Given the description of an element on the screen output the (x, y) to click on. 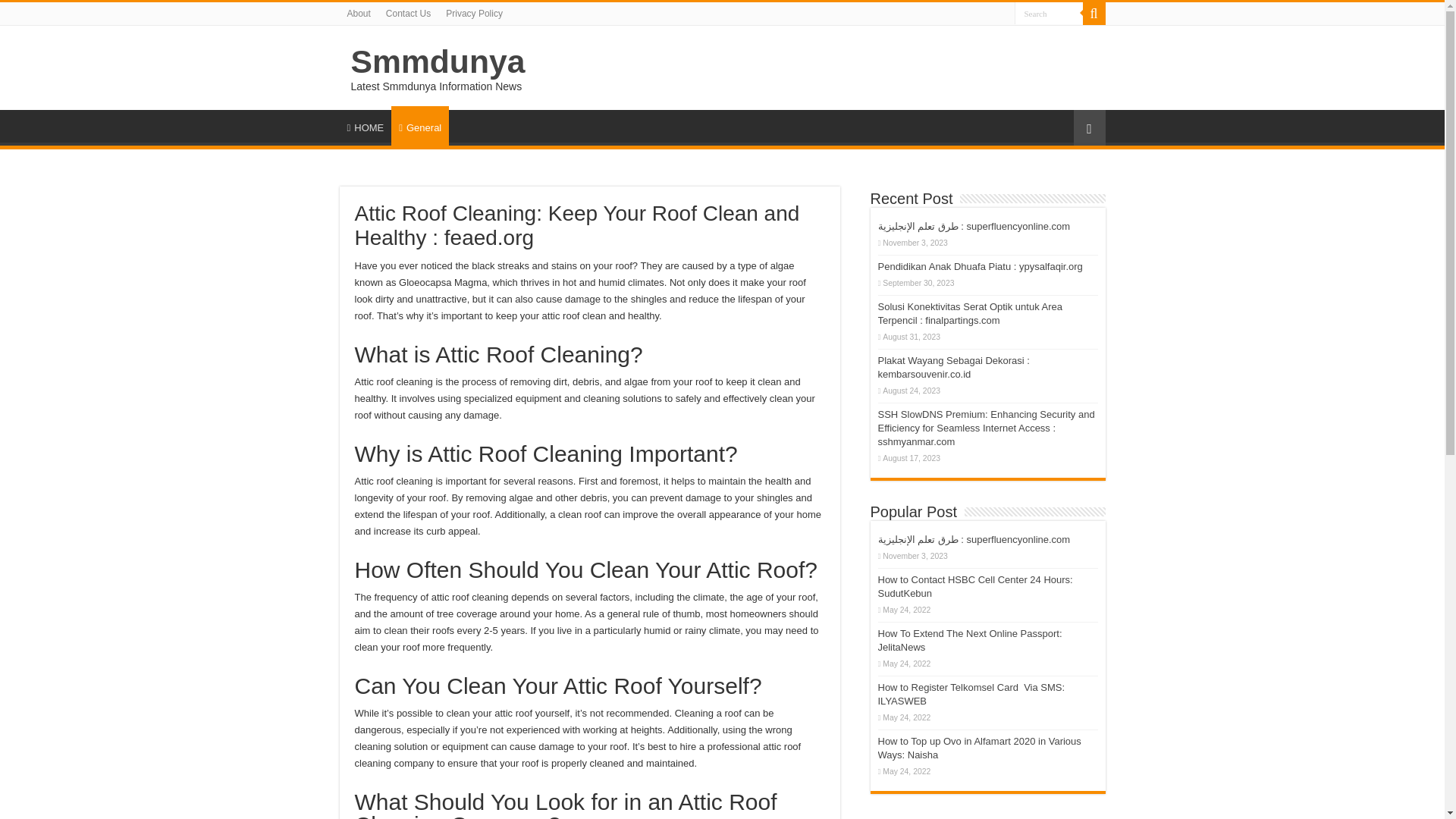
Contact Us (408, 13)
Search (1048, 13)
General (419, 125)
How To Extend The Next Online Passport: JelitaNews (969, 640)
Smmdunya (437, 61)
Privacy Policy (474, 13)
HOME (365, 125)
How to Contact HSBC Cell Center 24 Hours: SudutKebun (975, 586)
Search (1048, 13)
Search (1094, 13)
How to Register Telkomsel Card  Via SMS: ILYASWEB (971, 693)
Search (1048, 13)
Plakat Wayang Sebagai Dekorasi : kembarsouvenir.co.id (953, 367)
How to Top up Ovo in Alfamart 2020 in Various Ways: Naisha (979, 747)
Pendidikan Anak Dhuafa Piatu : ypysalfaqir.org (980, 266)
